Given the description of an element on the screen output the (x, y) to click on. 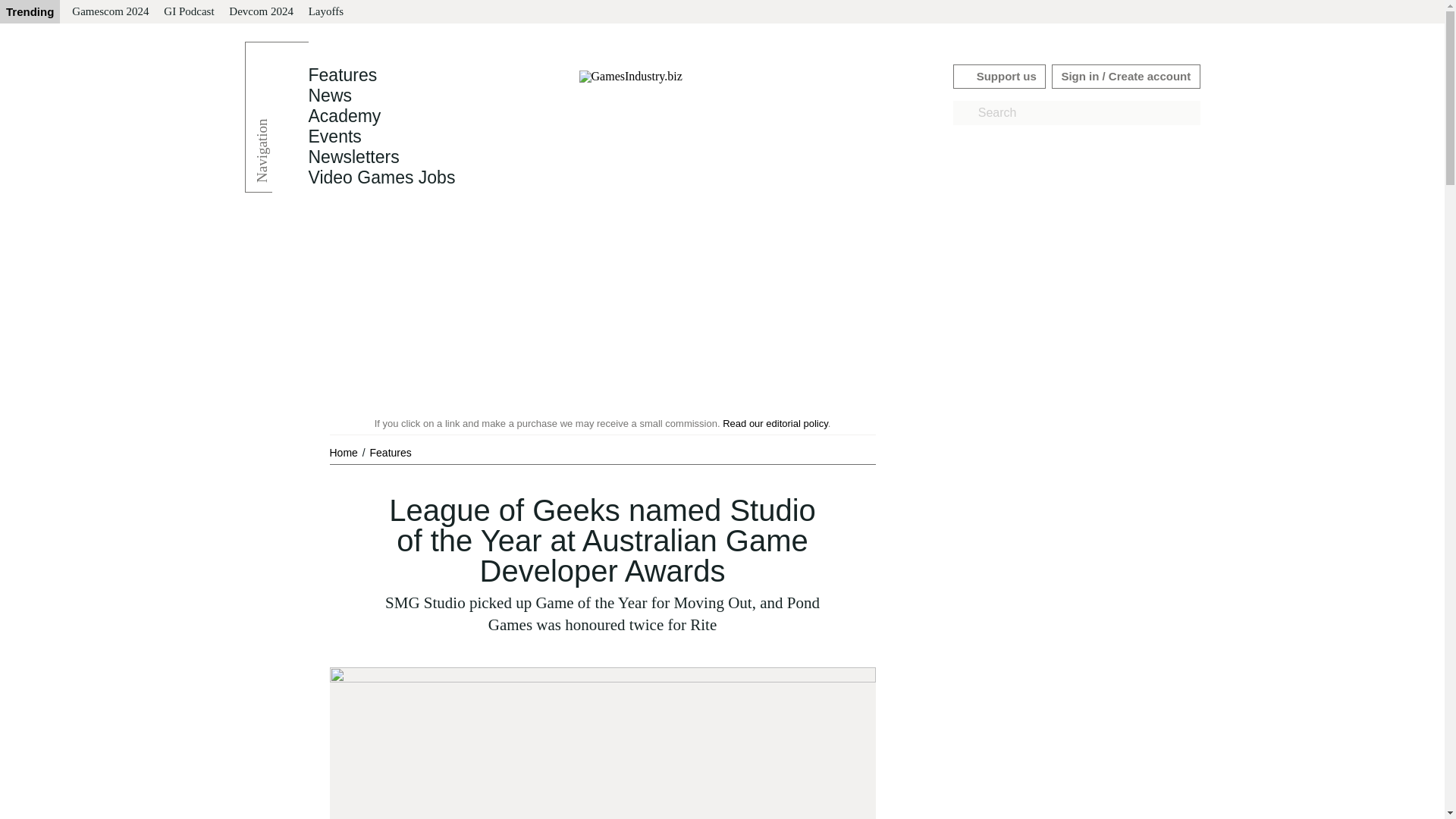
Read our editorial policy (775, 423)
Home (344, 452)
Events (334, 136)
Features (390, 452)
Support us (999, 75)
Features (390, 452)
GI Podcast (188, 11)
News (329, 95)
Academy (343, 116)
Gamescom 2024 (109, 11)
